Given the description of an element on the screen output the (x, y) to click on. 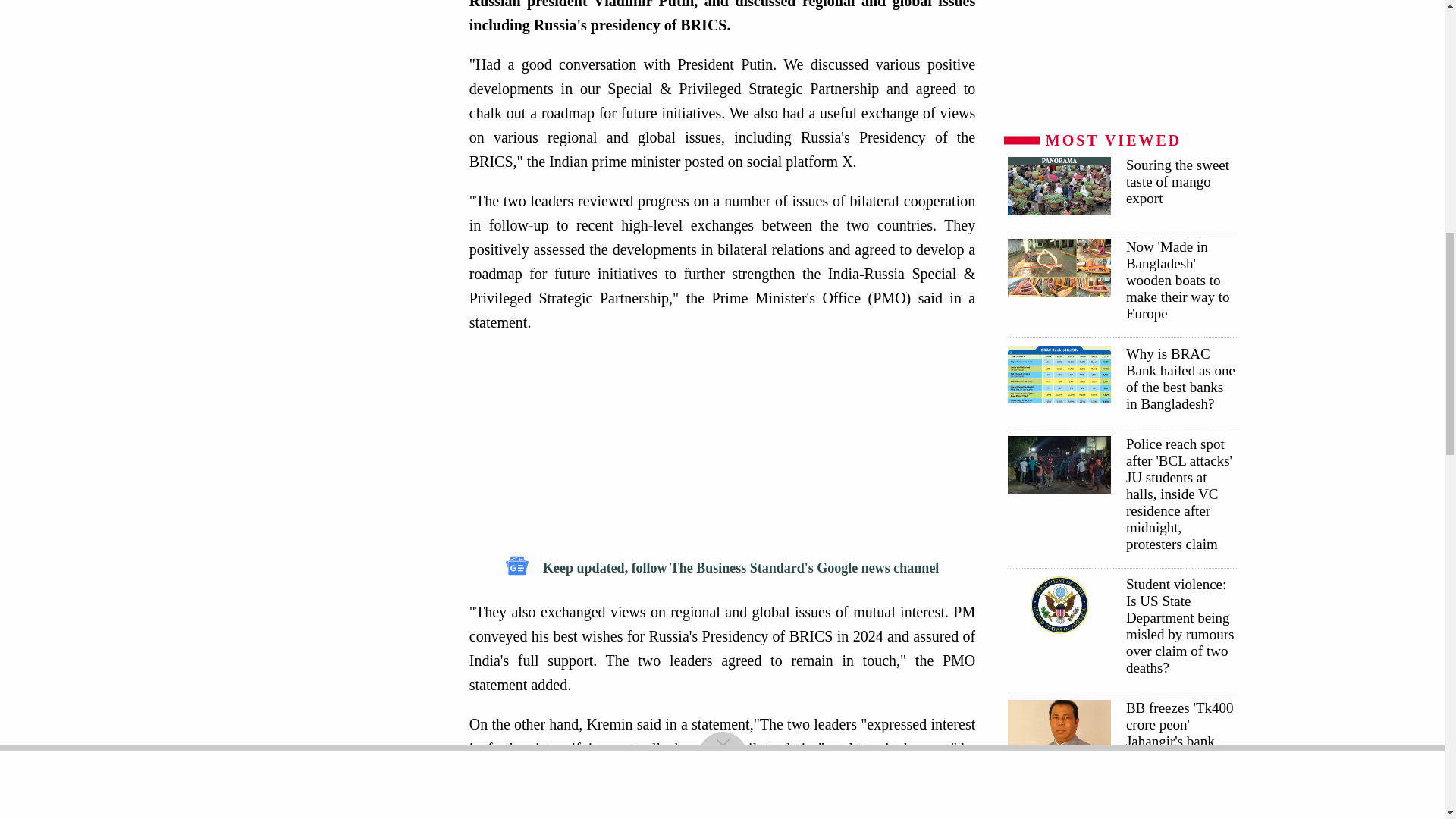
3rd party ad content (324, 21)
3rd party ad content (324, 153)
3rd party ad content (1120, 807)
3rd party ad content (726, 809)
3rd party ad content (1120, 58)
3rd party ad content (721, 443)
